Given the description of an element on the screen output the (x, y) to click on. 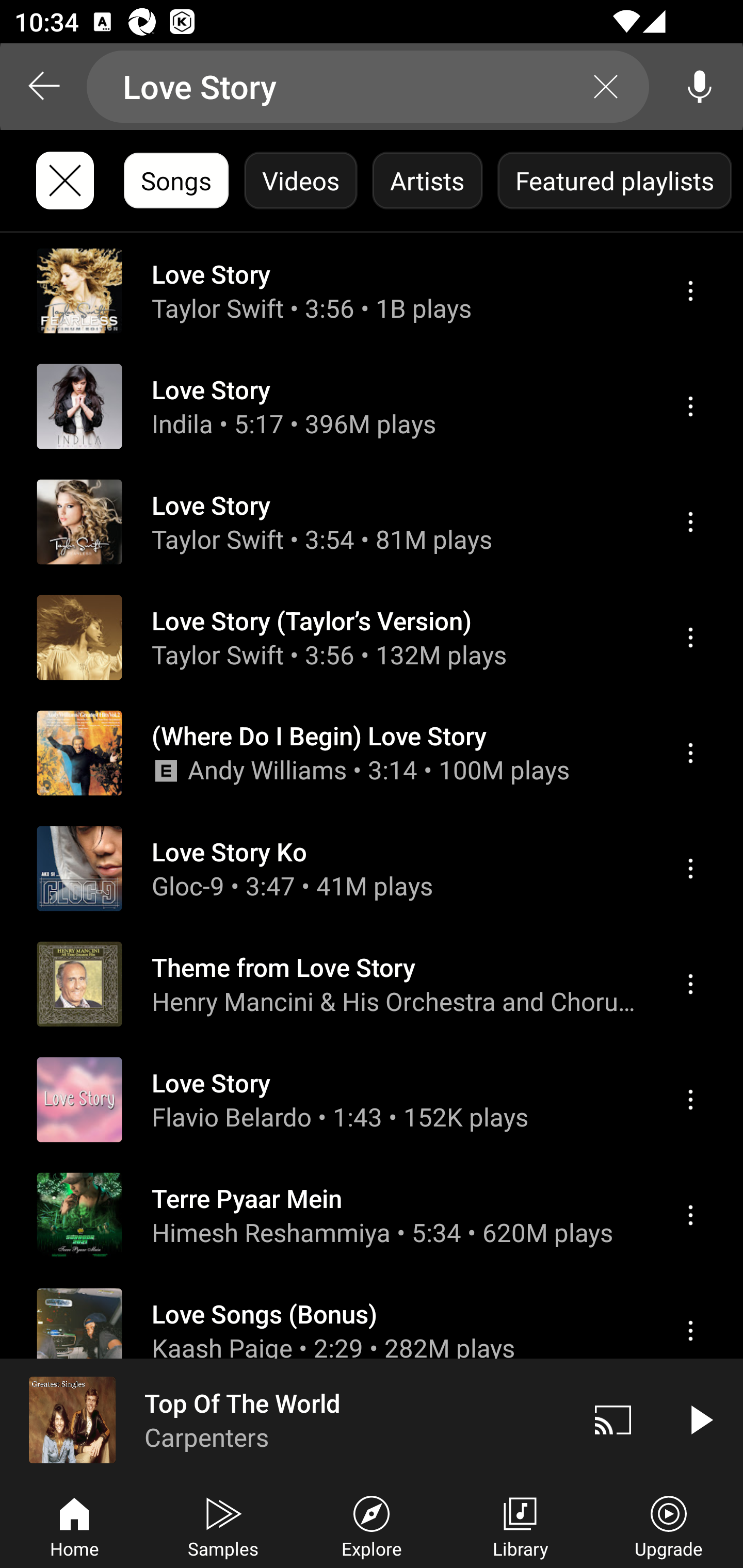
Search back (43, 86)
Love Story (367, 86)
Clear search (605, 86)
Voice search (699, 86)
Clear filters (64, 181)
Menu (690, 290)
Menu (690, 406)
Menu (690, 522)
Menu (690, 638)
Menu (690, 752)
Menu (690, 868)
Menu (690, 984)
Menu (690, 1099)
Menu (690, 1215)
Menu (690, 1331)
Top Of The World Carpenters (284, 1419)
Cast. Disconnected (612, 1419)
Play video (699, 1419)
Home (74, 1524)
Samples (222, 1524)
Explore (371, 1524)
Library (519, 1524)
Upgrade (668, 1524)
